Given the description of an element on the screen output the (x, y) to click on. 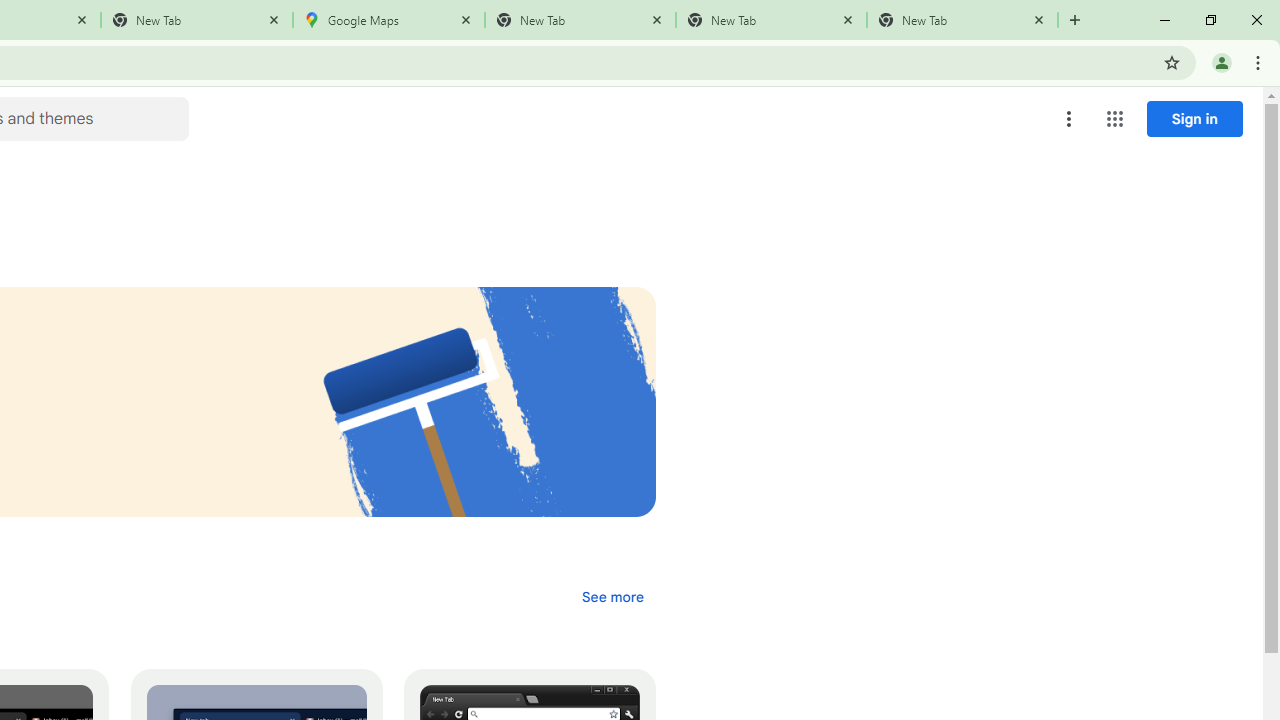
New Tab (197, 20)
See more of the "Dark & black themes" collection (612, 596)
More options menu (1069, 118)
Google Maps (389, 20)
New Tab (962, 20)
